Given the description of an element on the screen output the (x, y) to click on. 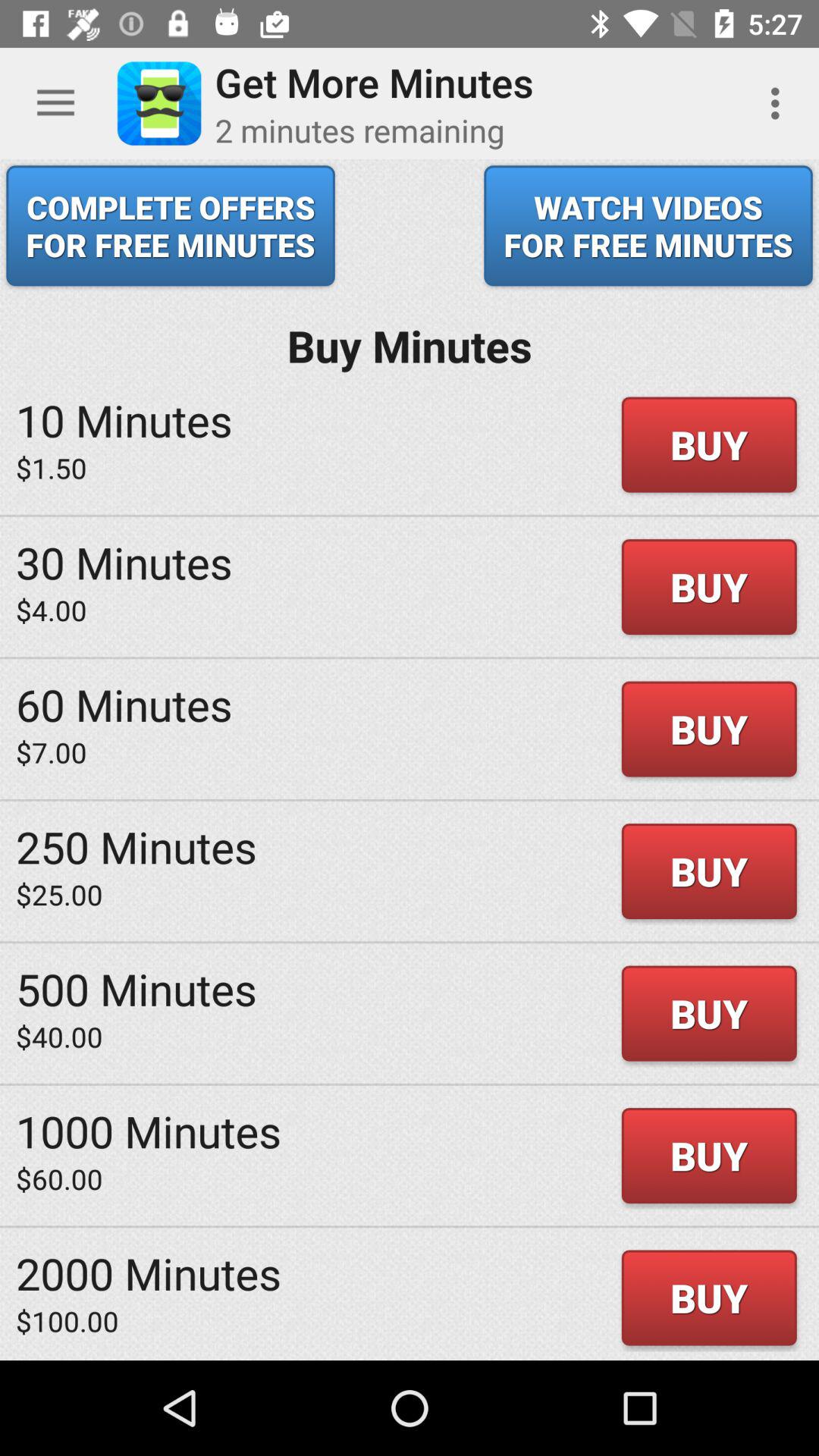
launch the icon below $1.50 (123, 561)
